Given the description of an element on the screen output the (x, y) to click on. 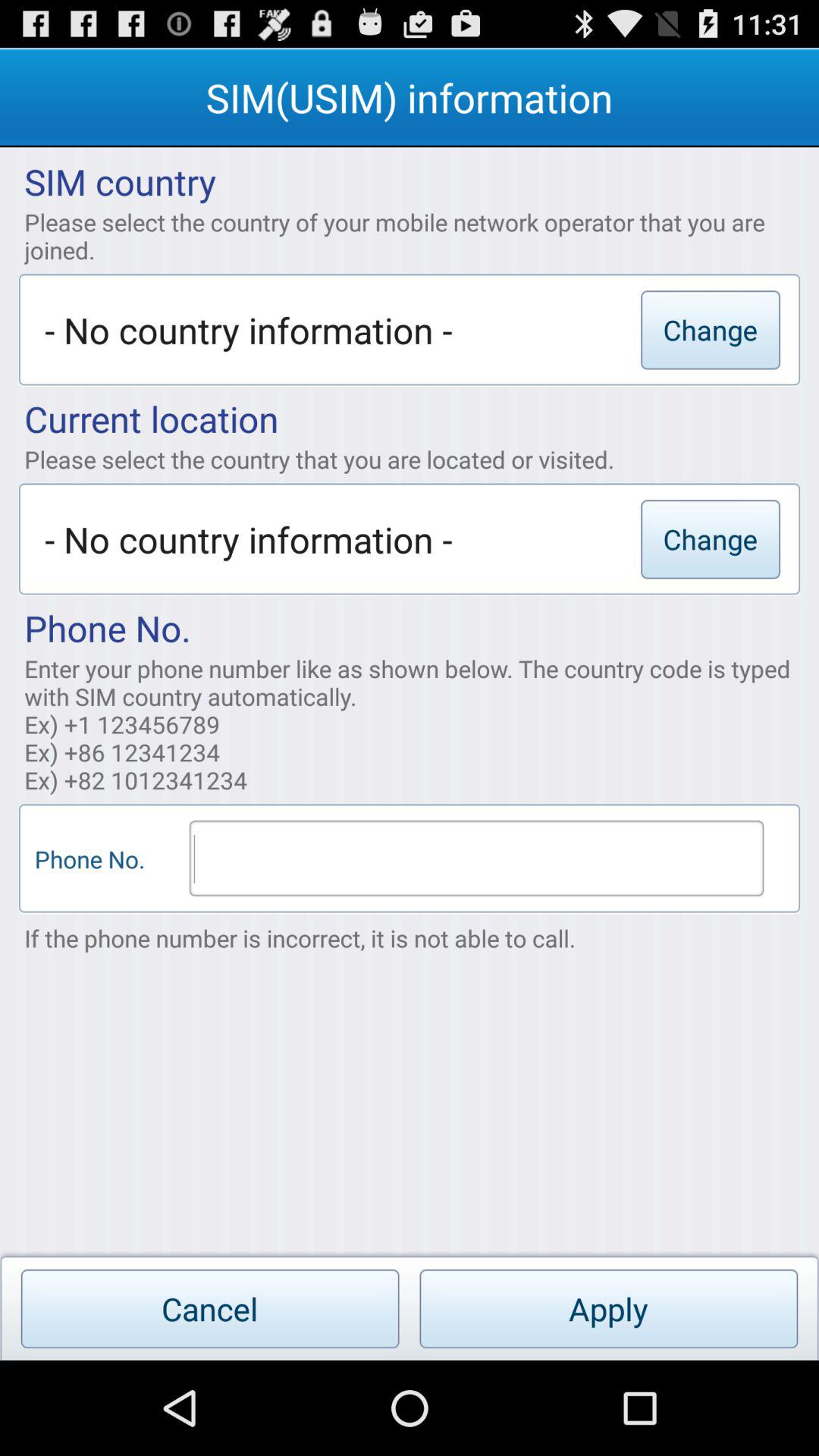
click the apply (608, 1309)
